Given the description of an element on the screen output the (x, y) to click on. 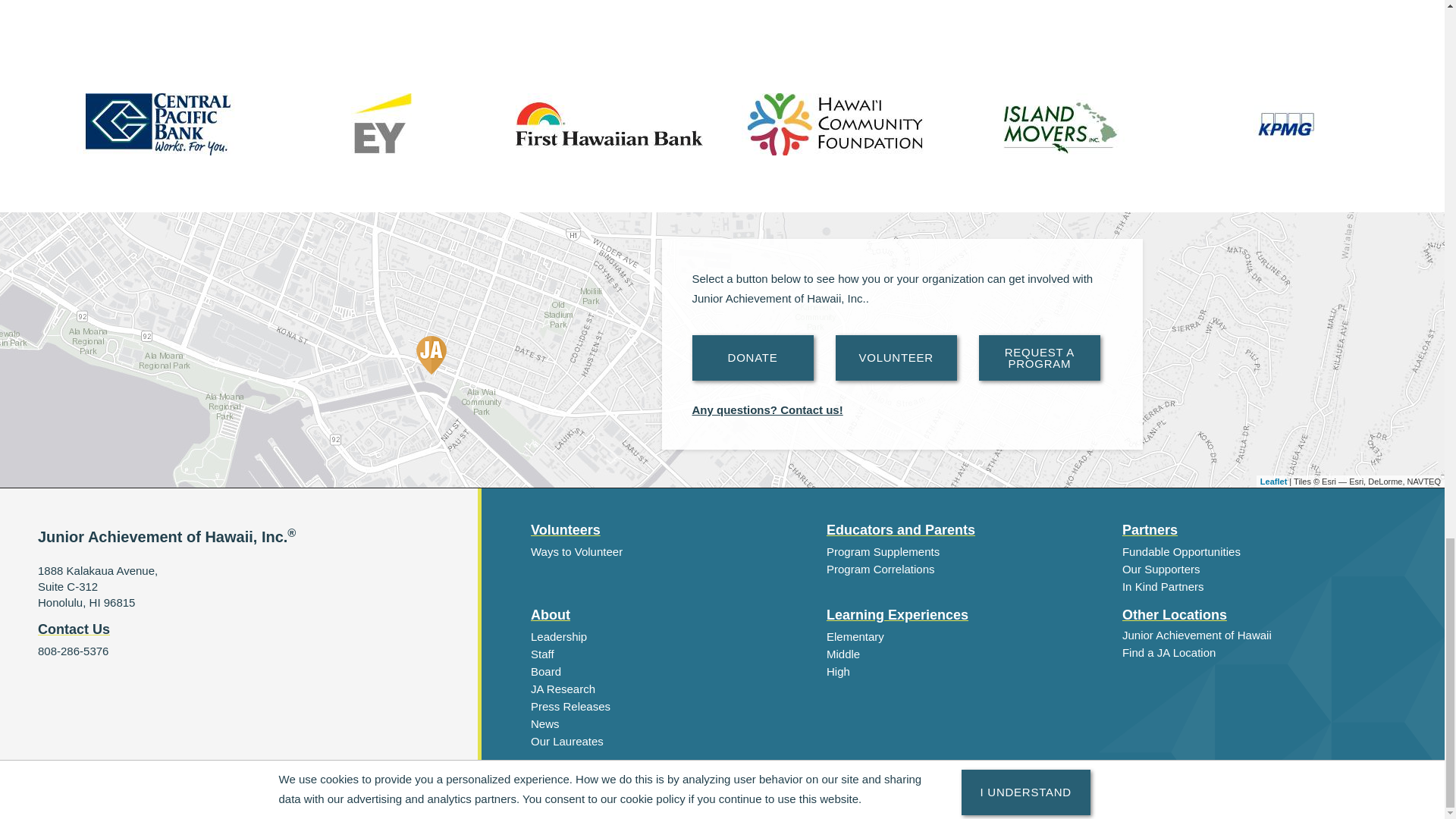
DONATE (751, 357)
REQUEST A PROGRAM (1039, 357)
Leaflet (1273, 481)
Any questions? Contact us! (767, 409)
VOLUNTEER (895, 357)
